Given the description of an element on the screen output the (x, y) to click on. 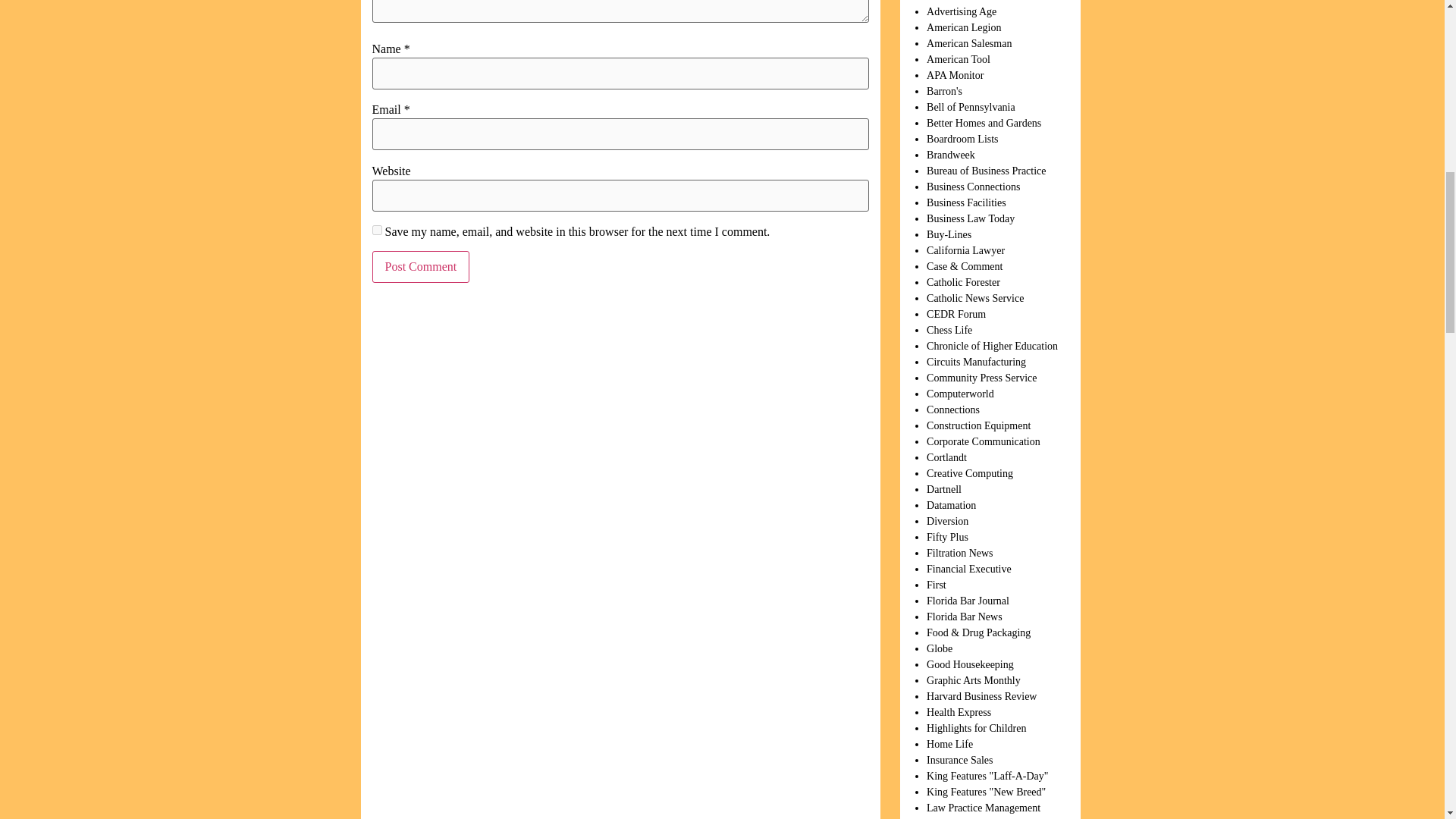
American Legion (963, 27)
Boardroom Lists (962, 138)
Bell of Pennsylvania (970, 107)
Brandweek (950, 154)
Better Homes and Gardens (983, 122)
Barron's (944, 91)
Bureau of Business Practice (985, 170)
Post Comment (419, 266)
Advertising Age (960, 11)
American Salesman (968, 43)
Post Comment (419, 266)
yes (376, 230)
American Tool (958, 59)
APA Monitor (955, 75)
